Given the description of an element on the screen output the (x, y) to click on. 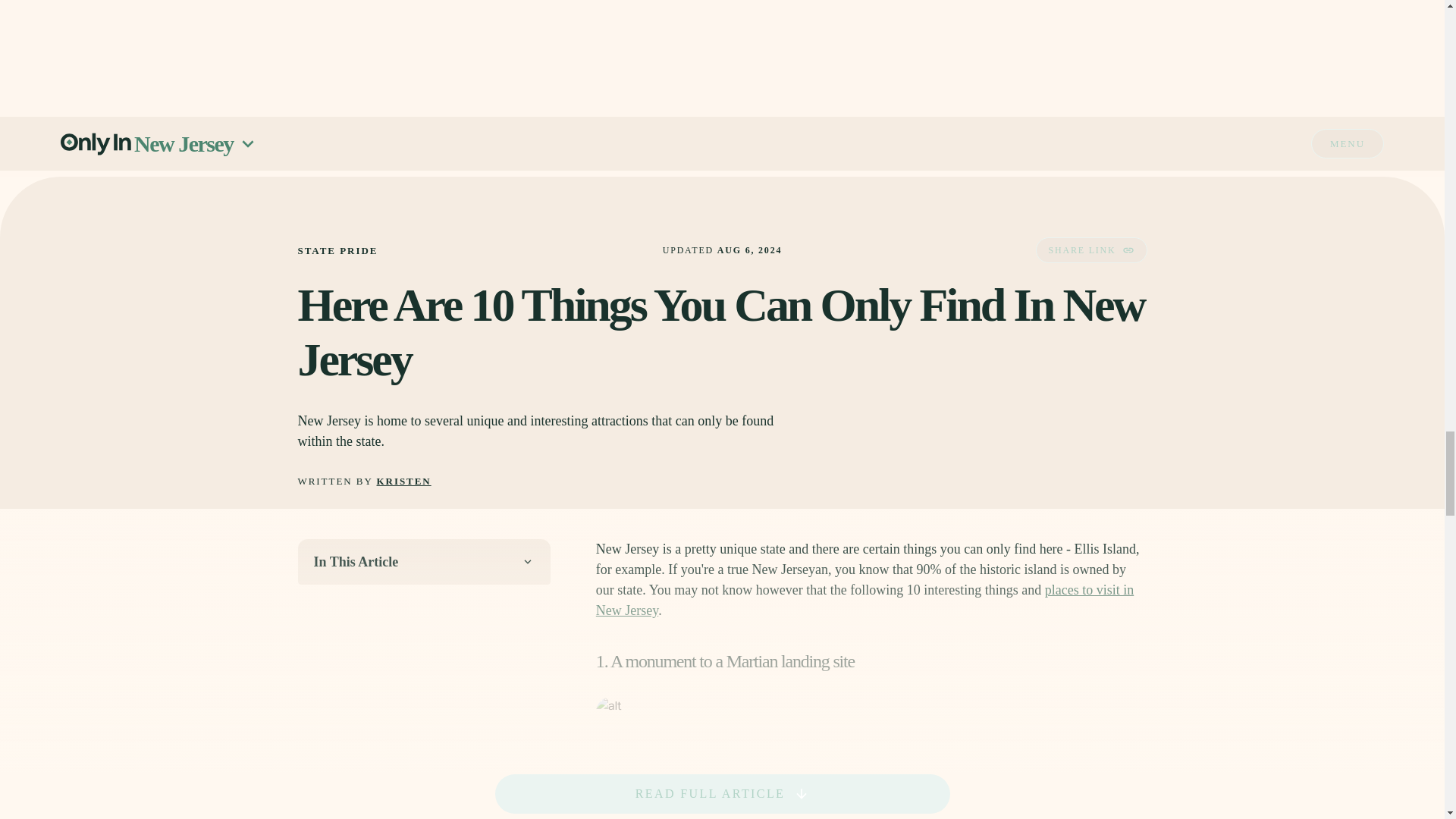
STATE PRIDE (337, 250)
places to visit in New Jersey (864, 600)
KRISTEN (403, 481)
SHARE LINK (1091, 249)
